Given the description of an element on the screen output the (x, y) to click on. 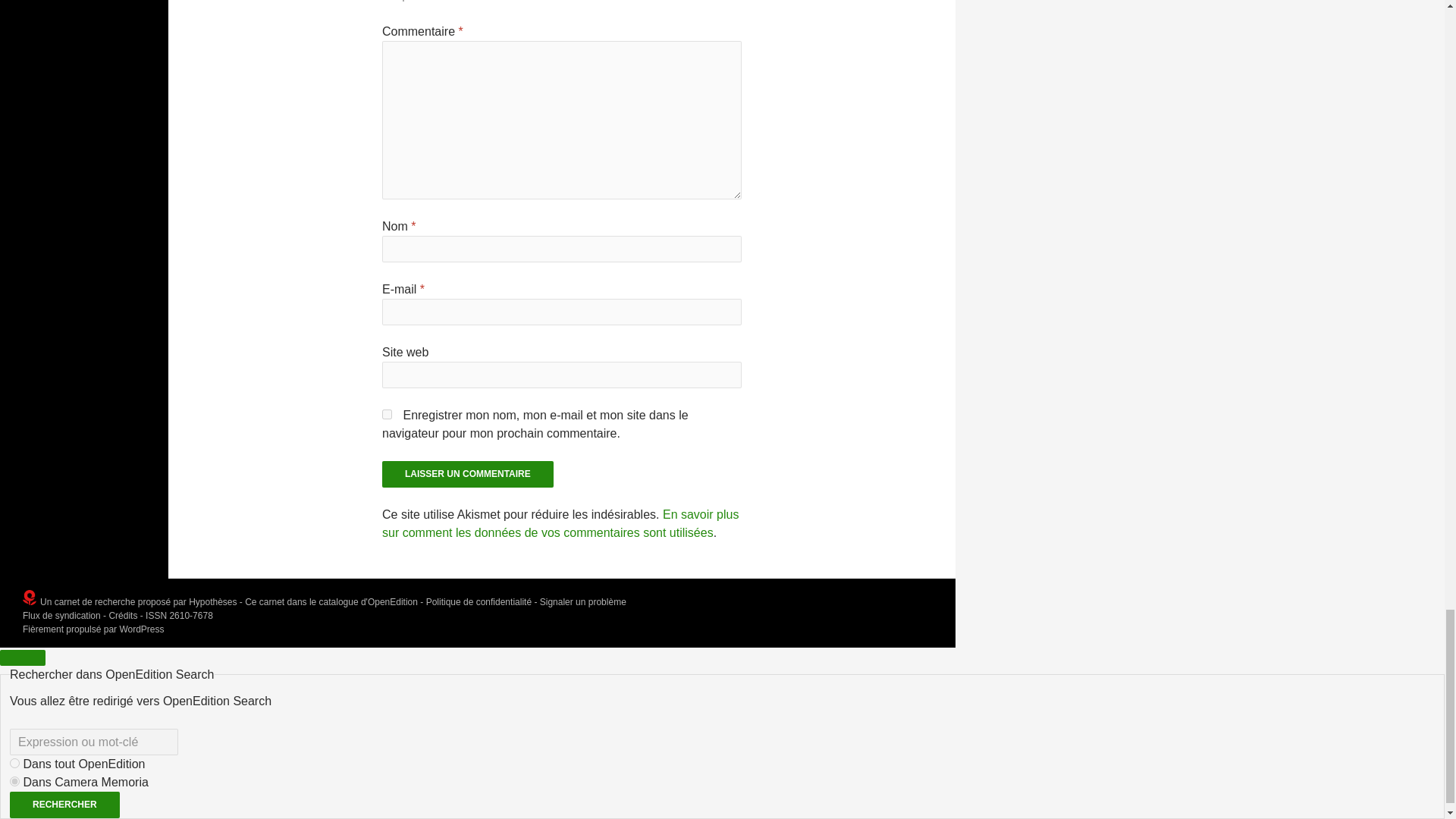
Laisser un commentaire (467, 474)
Camera Memoria (15, 781)
Ce carnet dans le catalogue d'OpenEdition (330, 602)
Laisser un commentaire (467, 474)
yes (386, 414)
